Given the description of an element on the screen output the (x, y) to click on. 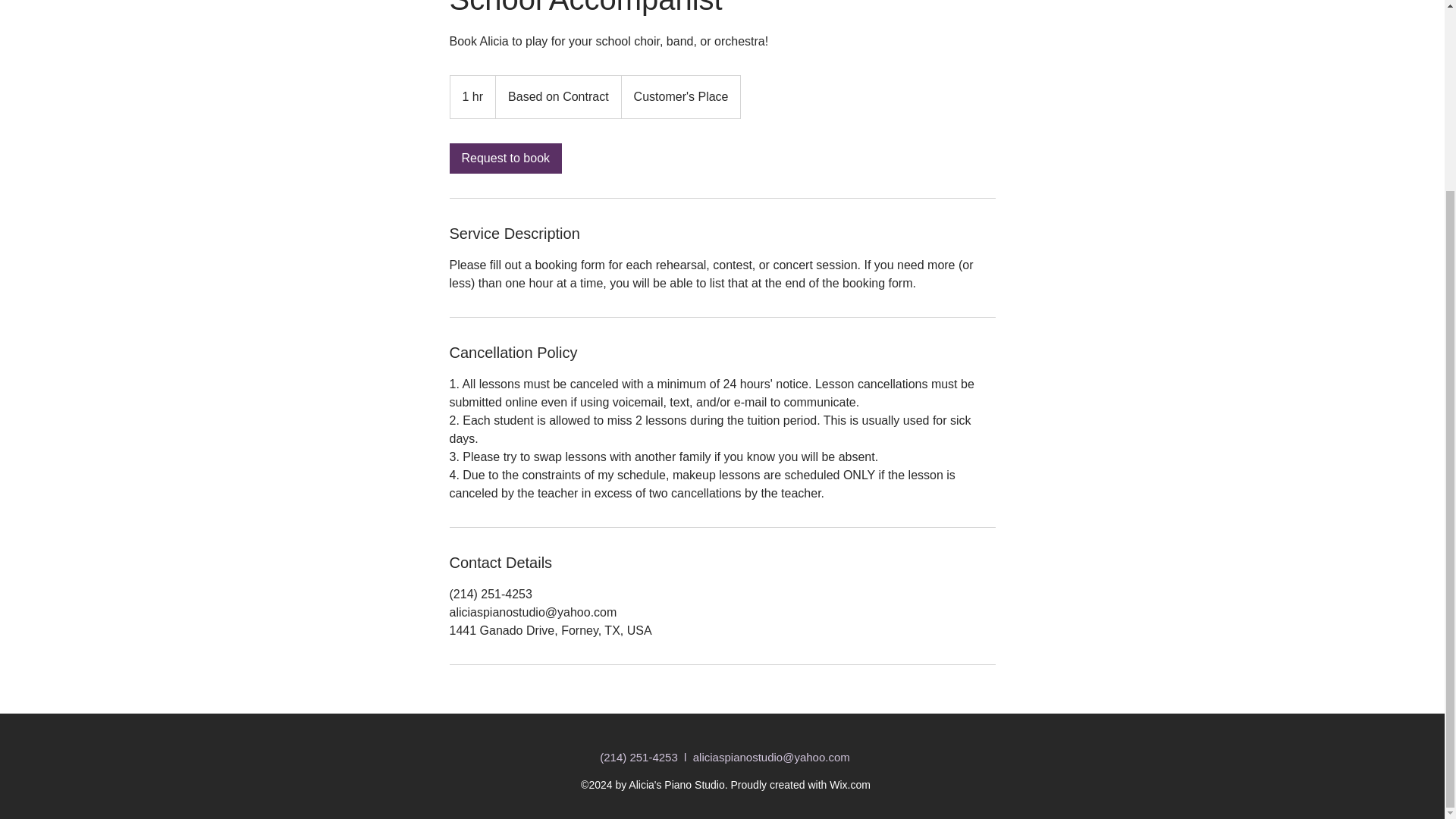
Request to book (505, 158)
